Given the description of an element on the screen output the (x, y) to click on. 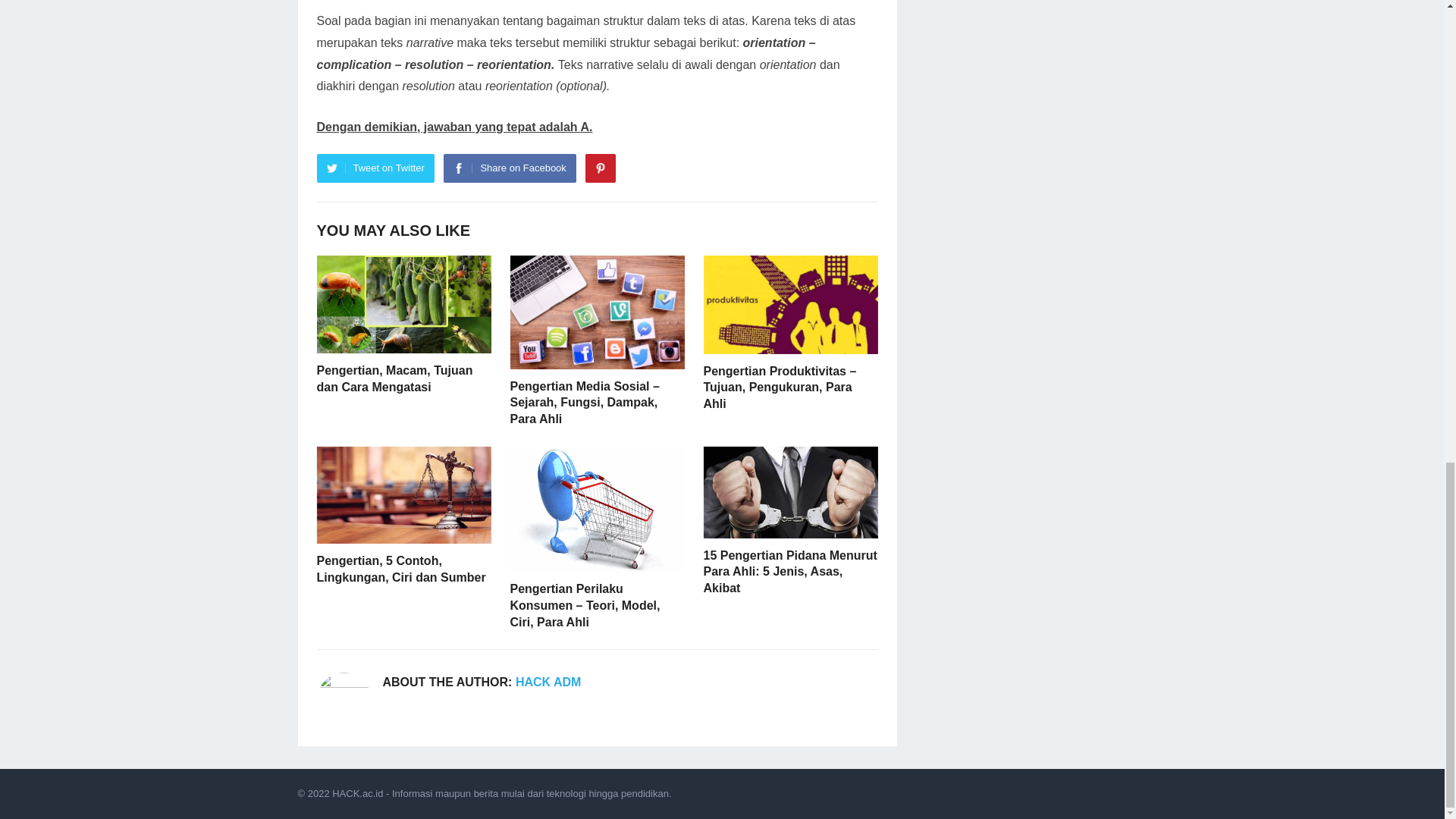
Pinterest (600, 167)
Pengertian, 5 Contoh, Lingkungan, Ciri dan Sumber (401, 568)
Tweet on Twitter (375, 167)
HACK ADM (547, 681)
Pengertian, Macam, Tujuan dan Cara Mengatasi (395, 378)
Share on Facebook (509, 167)
